Given the description of an element on the screen output the (x, y) to click on. 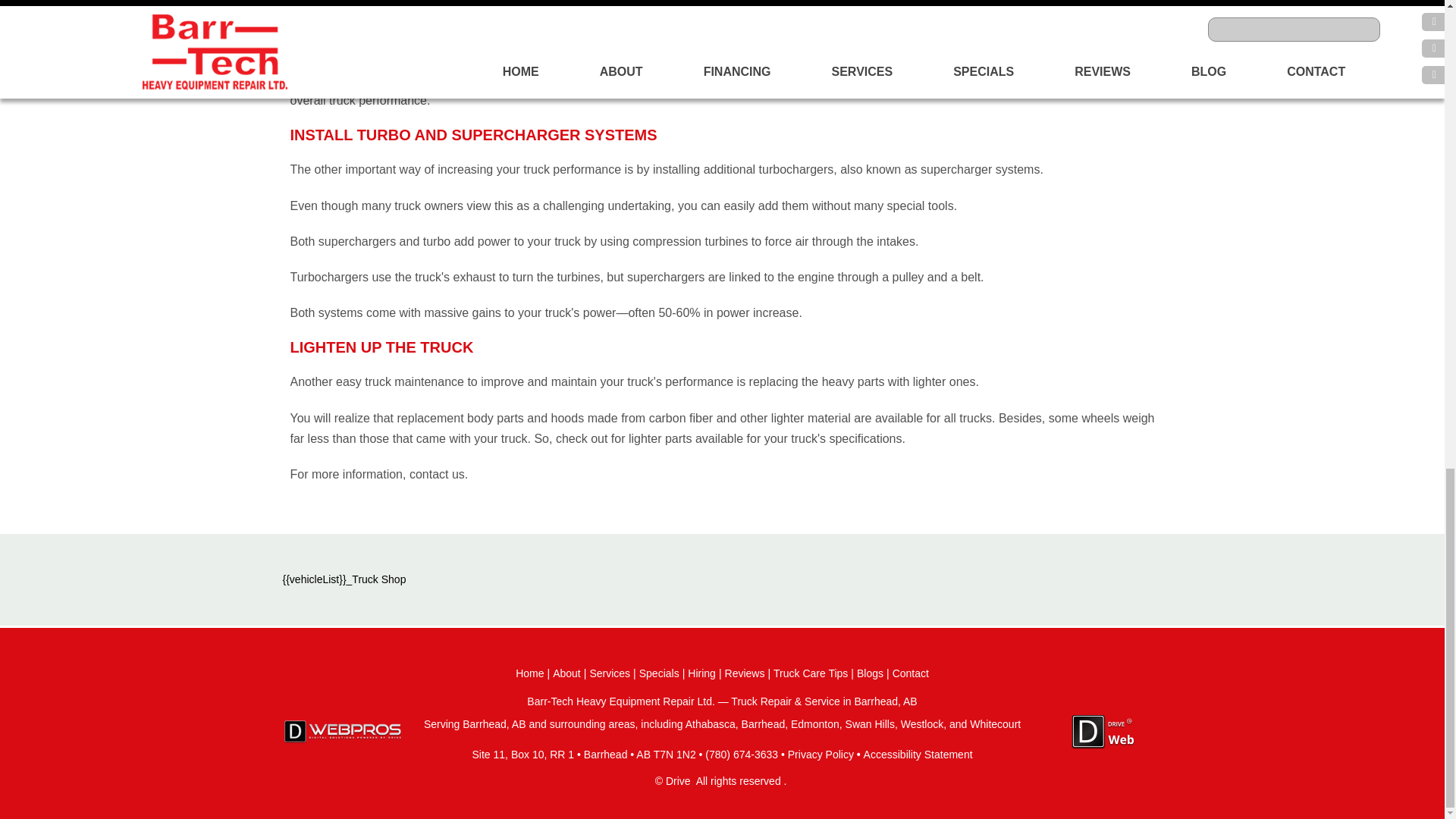
Home (528, 678)
